Given the description of an element on the screen output the (x, y) to click on. 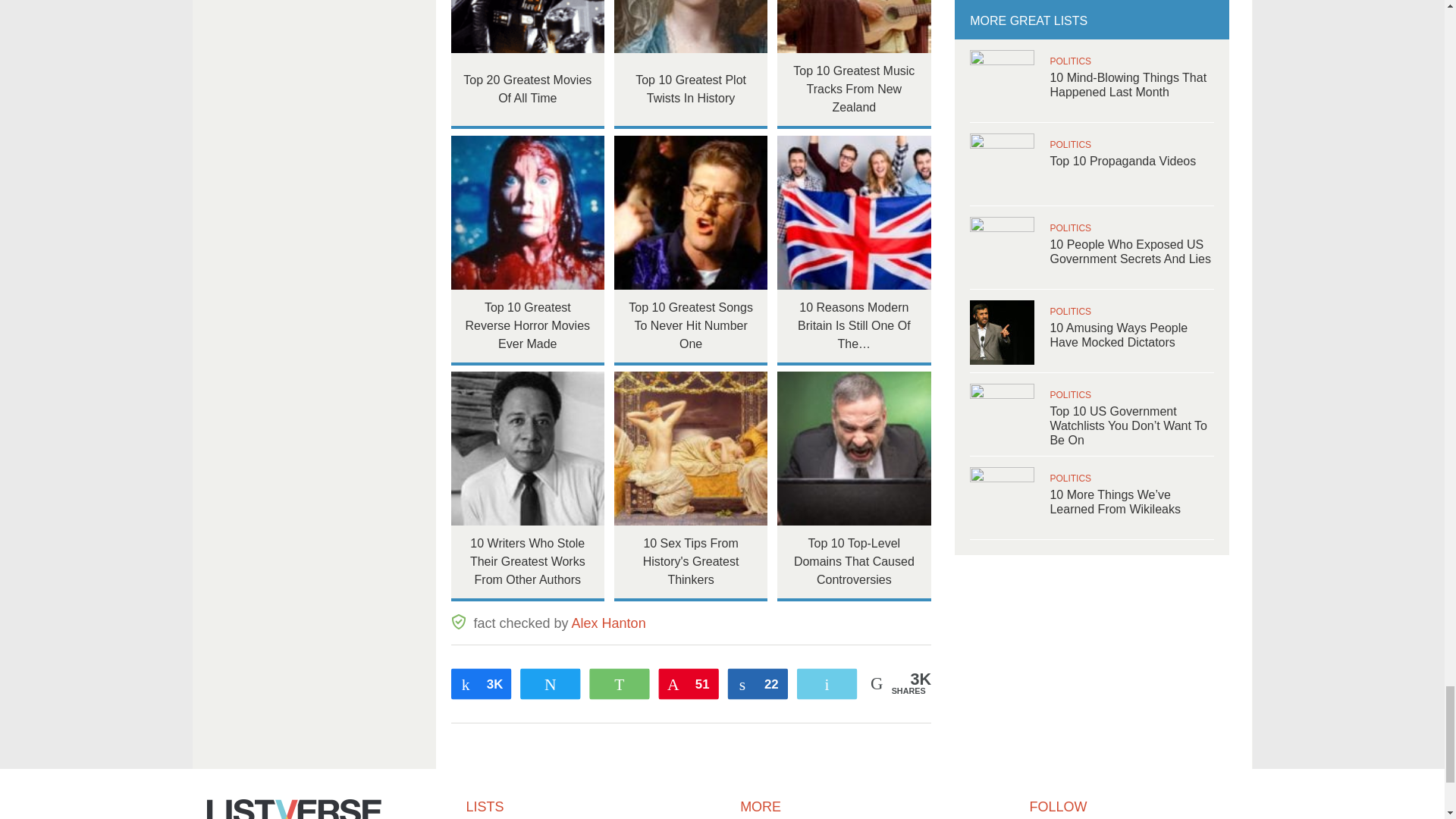
Top 20 Greatest Movies Of All Time (526, 27)
Top 10 Greatest Plot Twists In History (691, 27)
Top 10 Greatest Music Tracks From New Zealand (854, 27)
